Given the description of an element on the screen output the (x, y) to click on. 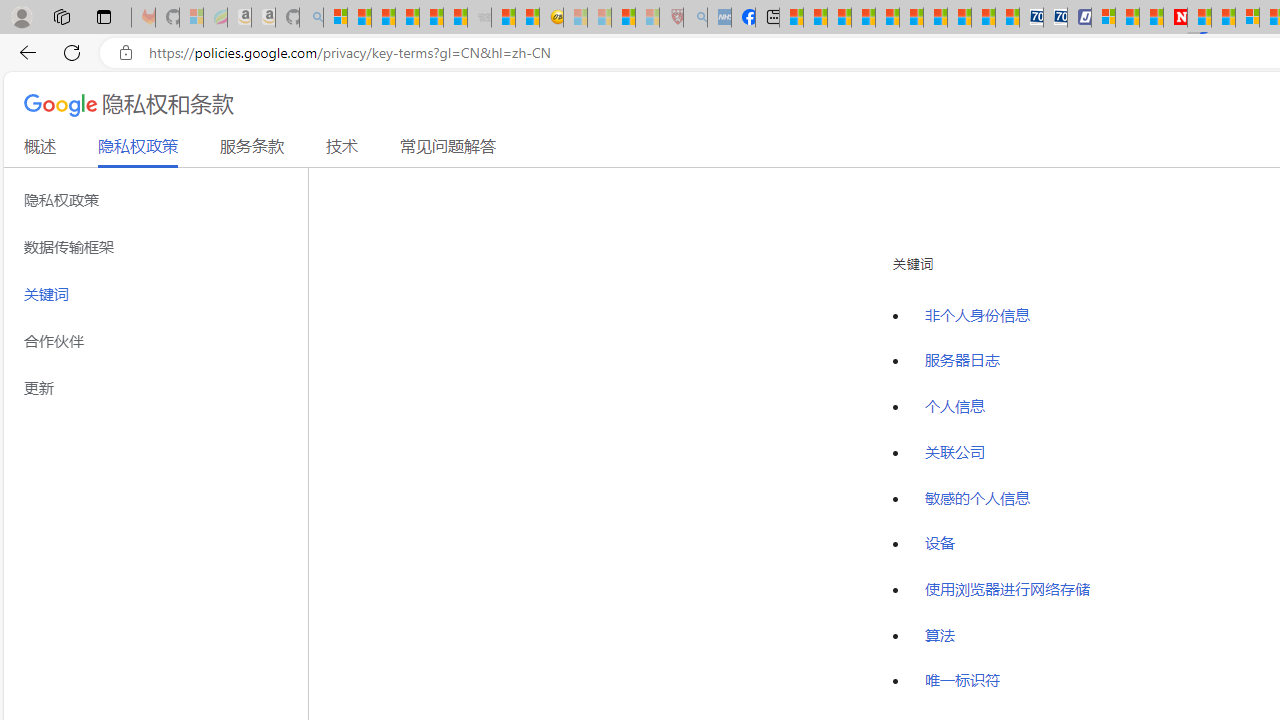
Cheap Car Rentals - Save70.com (1031, 17)
The Weather Channel - MSN (383, 17)
